Given the description of an element on the screen output the (x, y) to click on. 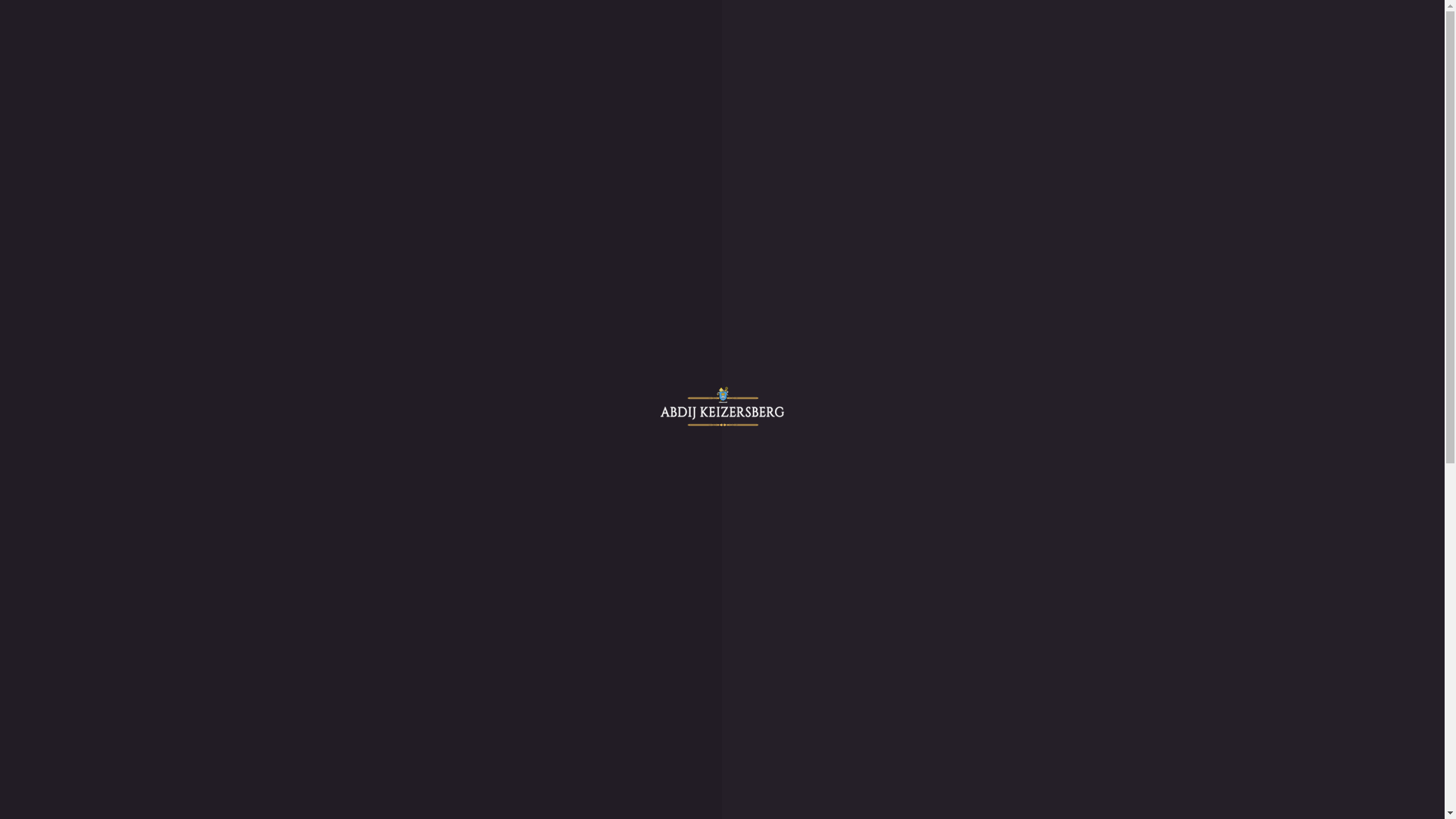
Bibliotheek Element type: text (94, 398)
Koristen Element type: text (87, 425)
Koristen Element type: text (117, 752)
Monnik worden Element type: text (136, 738)
De Abdij Element type: text (88, 670)
Spiritualiteit Element type: text (96, 100)
Bibliotheek Element type: text (125, 724)
Geschiedenis Element type: text (98, 357)
Abt-primaat Gregory Polan steunt Keizersberg 2.0 Element type: text (188, 466)
Keizersberg 2.0 Element type: text (104, 779)
U die Keizersberg in het hart draagt Element type: text (153, 507)
Koristen Element type: text (87, 154)
Castrum (abdijwinkel) Element type: text (90, 575)
De abdij Element type: text (57, 72)
Bibliotheek Element type: text (94, 127)
Vrienden van de Abdij Element type: text (120, 439)
Spiritualiteit Element type: text (96, 370)
Monnik worden Element type: text (105, 140)
Keizersberg 2.0 Element type: text (74, 452)
Studenten Element type: text (60, 561)
Contact Element type: text (55, 209)
Labora Element type: text (53, 589)
Castrum (abdijwinkel) Element type: text (90, 181)
De abdij Element type: text (57, 343)
Gebedsdiensten Element type: text (104, 113)
Spiritualiteit Element type: text (127, 697)
Monnik worden Element type: text (105, 411)
Vrienden van de Abdij Element type: text (120, 168)
Geschiedenis Element type: text (98, 86)
Geschiedenis Element type: text (129, 683)
Vrienden van de Abdij Element type: text (151, 765)
Contact Element type: text (55, 602)
Nieuwe overste Element type: text (134, 793)
Gebedsdiensten Element type: text (104, 384)
Labora Element type: text (53, 195)
Annuleren Element type: text (209, 240)
Gebedsdiensten Element type: text (135, 711)
Boekvoorstelling Levensliederen - 22 november Element type: text (183, 548)
Agenda Element type: text (55, 534)
Oproep tot steun vanwege de Abbas Primas Element type: text (172, 520)
Nieuwe overste Element type: text (104, 479)
